Given the description of an element on the screen output the (x, y) to click on. 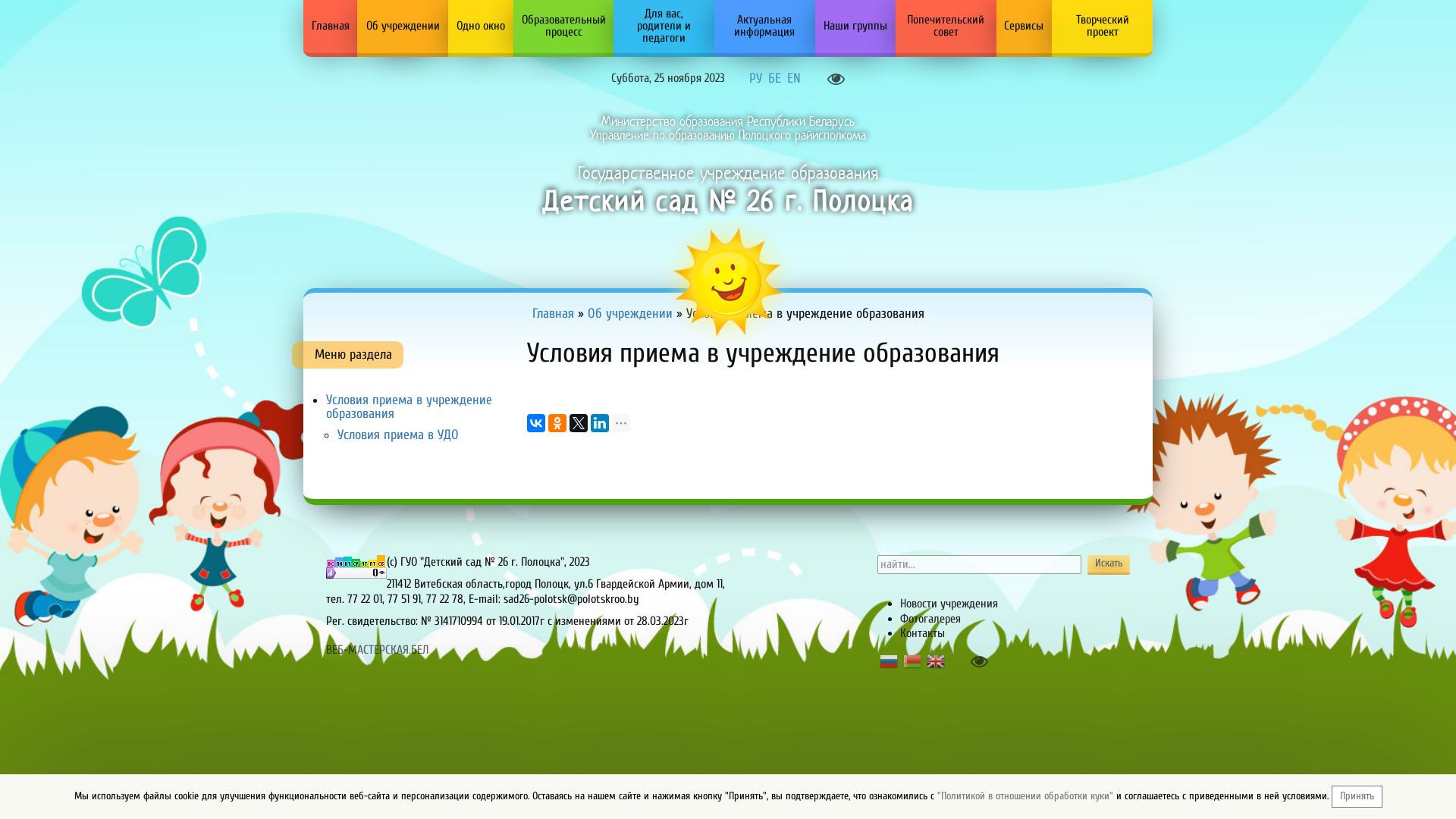
LinkedIn Element type: hover (599, 423)
EN Element type: text (793, 77)
Twitter Element type: hover (578, 423)
